Given the description of an element on the screen output the (x, y) to click on. 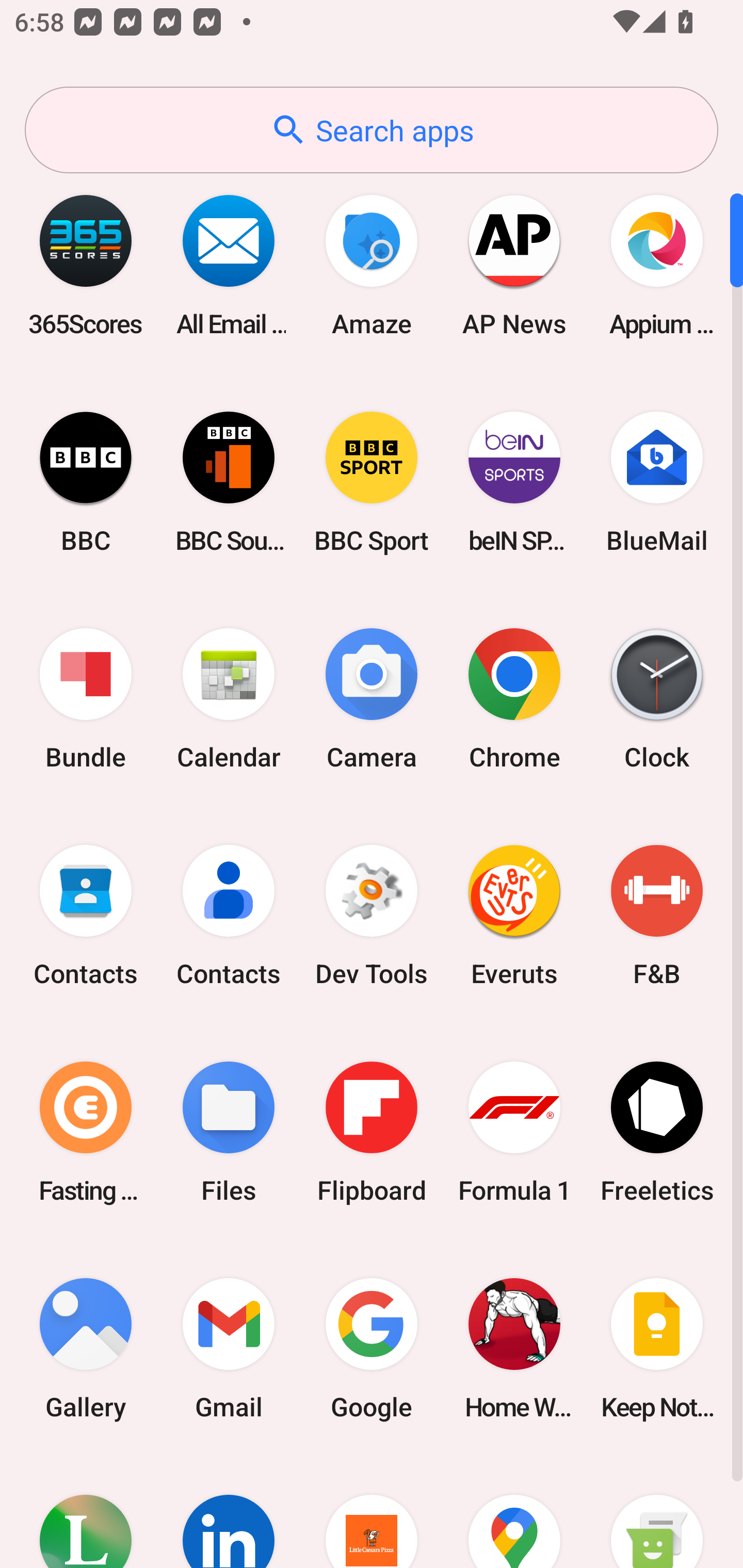
  Search apps (371, 130)
365Scores (85, 264)
All Email Connect (228, 264)
Amaze (371, 264)
AP News (514, 264)
Appium Settings (656, 264)
BBC (85, 482)
BBC Sounds (228, 482)
BBC Sport (371, 482)
beIN SPORTS (514, 482)
BlueMail (656, 482)
Bundle (85, 699)
Calendar (228, 699)
Camera (371, 699)
Chrome (514, 699)
Clock (656, 699)
Contacts (85, 915)
Contacts (228, 915)
Dev Tools (371, 915)
Everuts (514, 915)
F&B (656, 915)
Fasting Coach (85, 1131)
Files (228, 1131)
Flipboard (371, 1131)
Formula 1 (514, 1131)
Freeletics (656, 1131)
Gallery (85, 1348)
Gmail (228, 1348)
Google (371, 1348)
Home Workout (514, 1348)
Keep Notes (656, 1348)
Lifesum (85, 1512)
LinkedIn (228, 1512)
Little Caesars Pizza (371, 1512)
Maps (514, 1512)
Messaging (656, 1512)
